Given the description of an element on the screen output the (x, y) to click on. 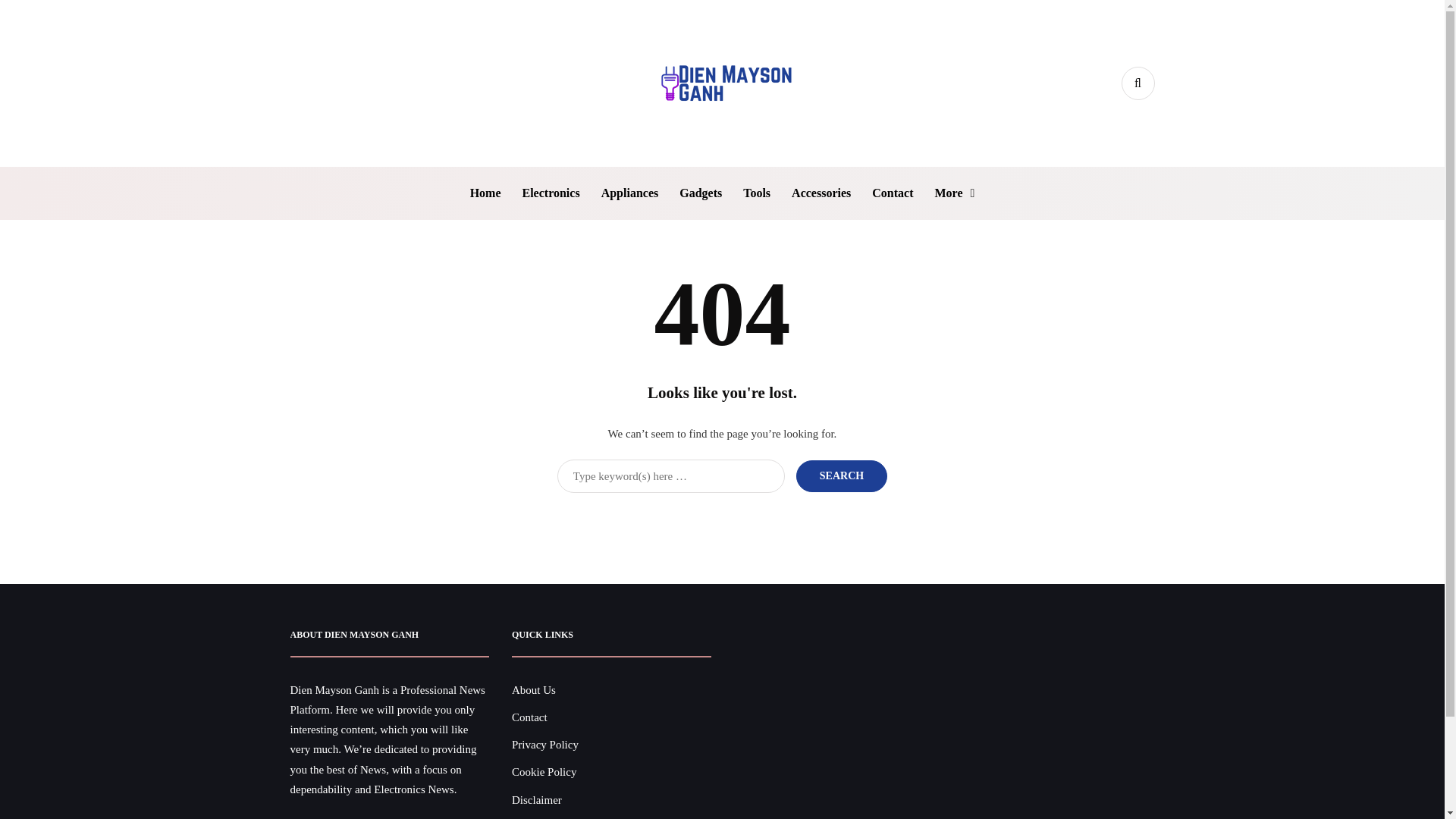
Home (486, 192)
Electronics (550, 192)
More (954, 192)
Privacy Policy (545, 744)
Accessories (820, 192)
Tools (756, 192)
Search (841, 475)
Cookie Policy (544, 771)
Search (841, 475)
Appliances (630, 192)
Disclaimer (537, 799)
Gadgets (700, 192)
Contact (892, 192)
About Us (534, 689)
Contact (529, 717)
